Given the description of an element on the screen output the (x, y) to click on. 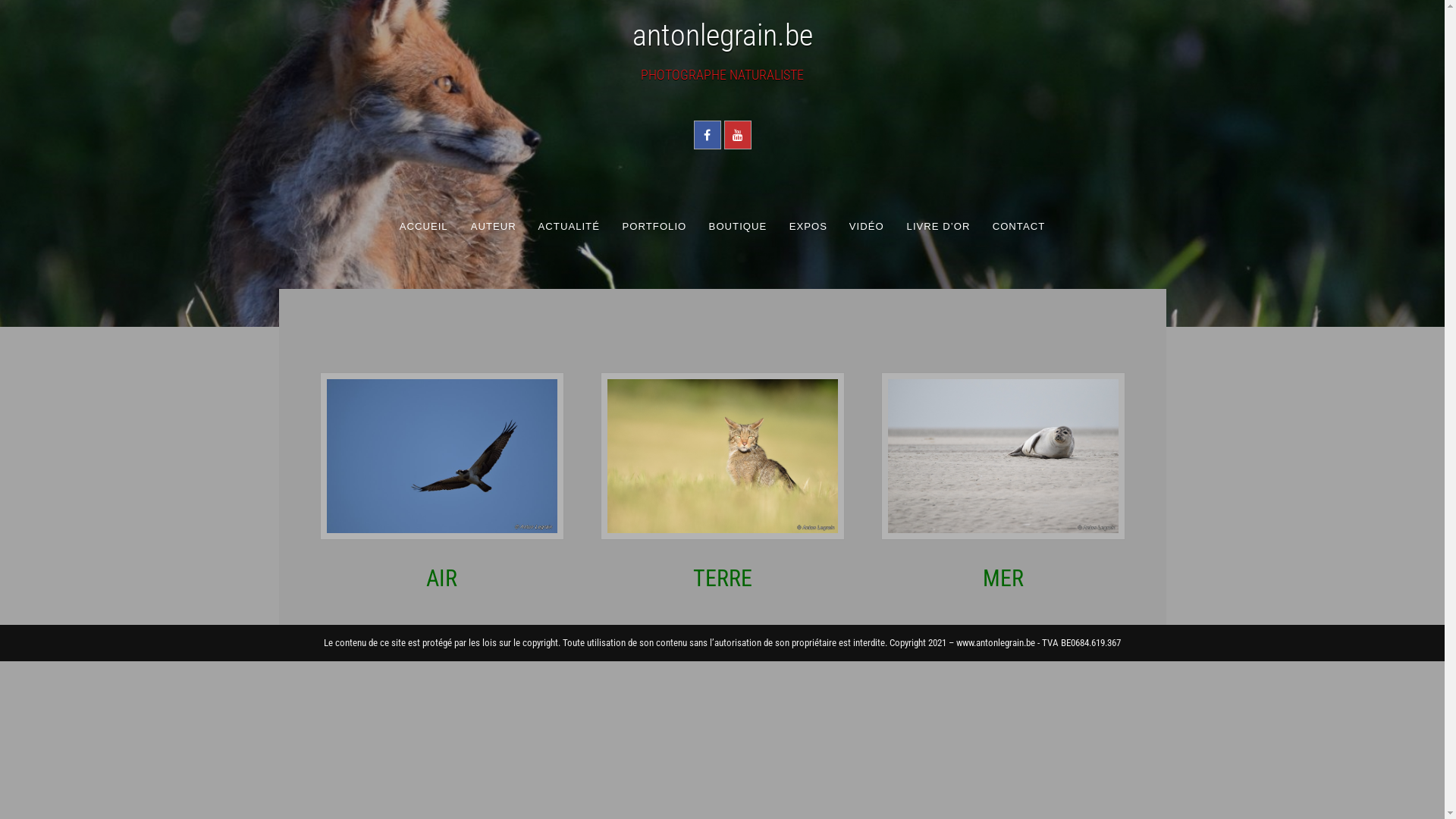
TERRE Element type: hover (721, 454)
antonlegrain.be Element type: text (722, 35)
EXPOS Element type: text (807, 226)
MER Element type: hover (1002, 454)
ACCUEIL Element type: text (423, 226)
MER Element type: text (1002, 577)
AIR Element type: hover (441, 454)
PORTFOLIO Element type: text (653, 226)
CONTACT Element type: text (1017, 226)
AUTEUR Element type: text (492, 226)
TERRE Element type: text (722, 577)
AIR Element type: text (441, 577)
BOUTIQUE Element type: text (736, 226)
